Given the description of an element on the screen output the (x, y) to click on. 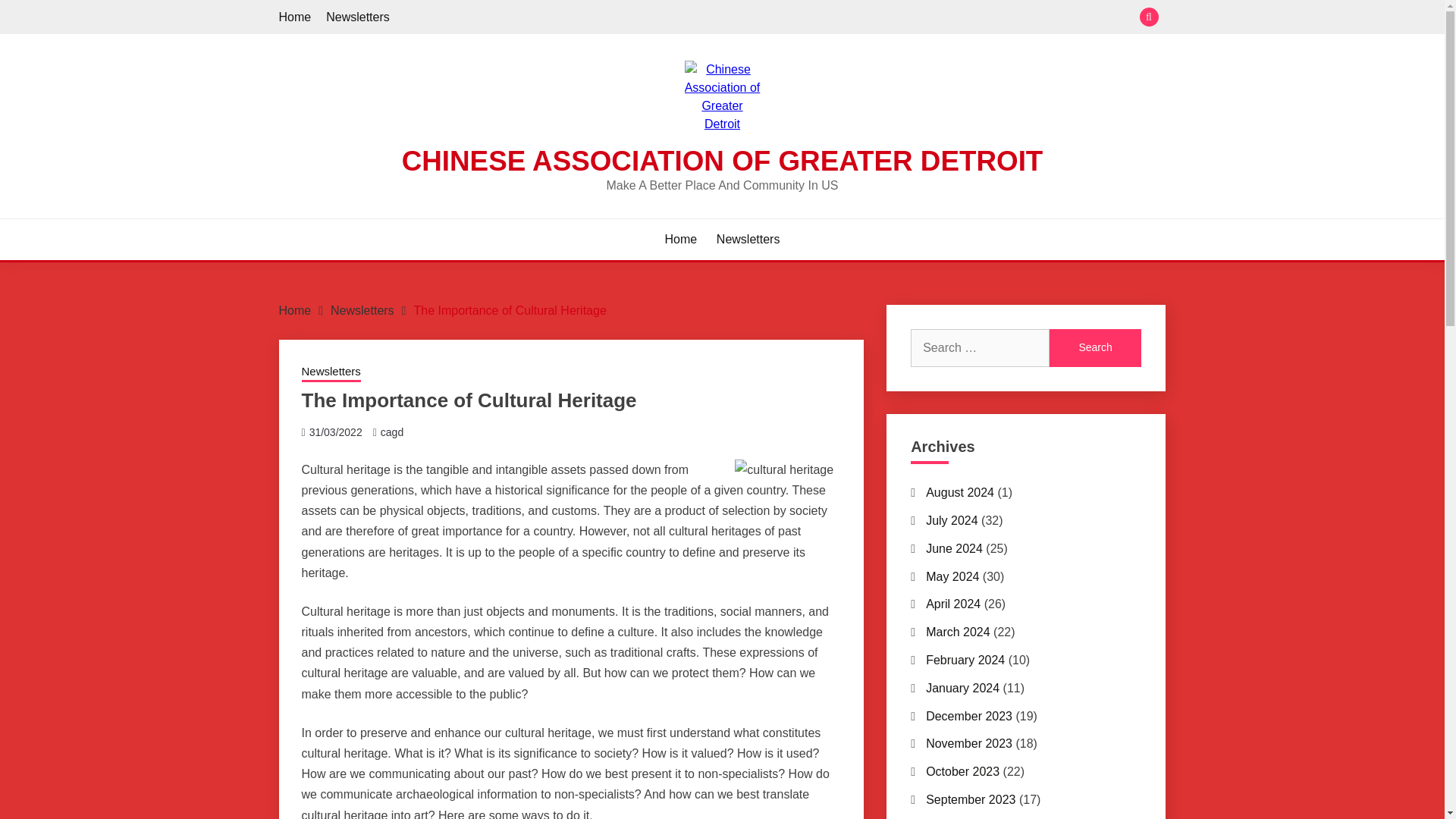
Newsletters (358, 16)
Search (1095, 347)
Search (1095, 347)
January 2024 (962, 687)
Search (832, 18)
May 2024 (952, 576)
June 2024 (954, 548)
The Importance of Cultural Heritage (509, 309)
February 2024 (965, 659)
April 2024 (952, 603)
Newsletters (362, 309)
Home (681, 239)
December 2023 (968, 716)
cagd (391, 431)
March 2024 (958, 631)
